Given the description of an element on the screen output the (x, y) to click on. 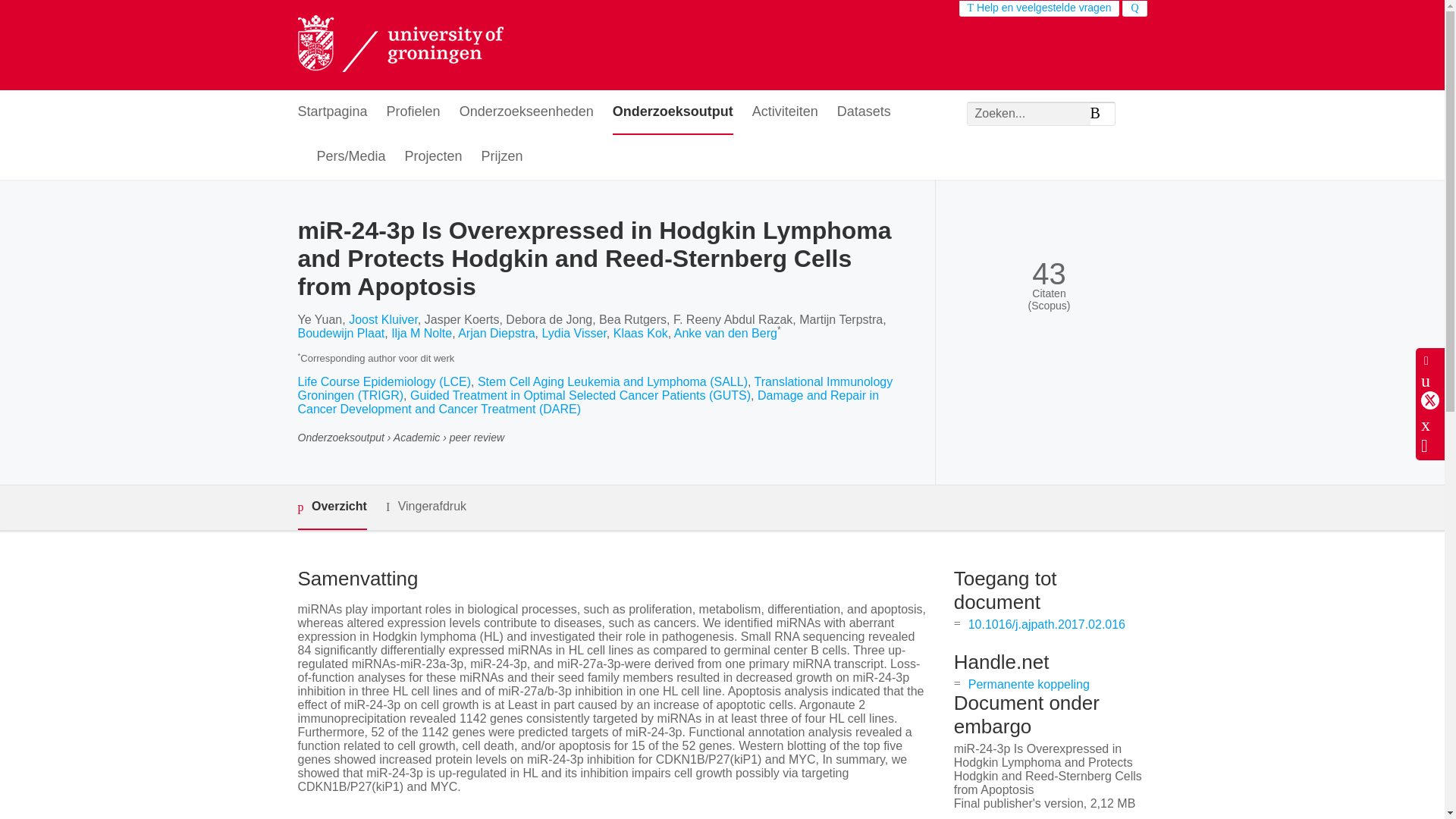
Permanente koppeling (1028, 684)
Ilja M Nolte (421, 332)
Lydia Visser (573, 332)
Vingerafdruk (425, 506)
Activiteiten (785, 112)
Profielen (414, 112)
Projecten (433, 157)
Onderzoekseenheden (527, 112)
Onderzoeksoutput (672, 112)
